Given the description of an element on the screen output the (x, y) to click on. 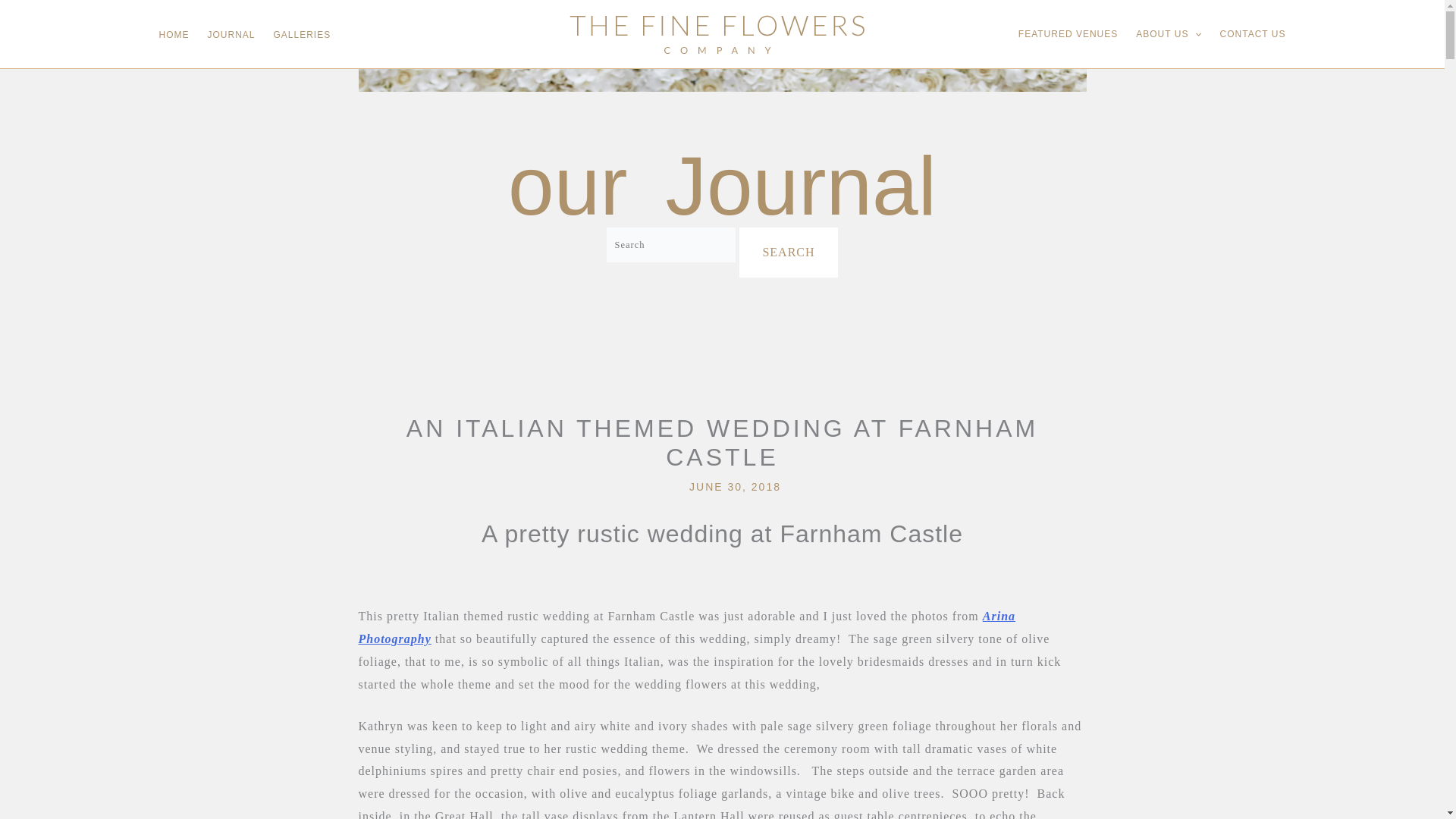
Arina Photography (686, 627)
ABOUT US (1167, 33)
Search (788, 252)
FEATURED VENUES (1067, 33)
CONTACT US (1253, 33)
Search (788, 252)
